Given the description of an element on the screen output the (x, y) to click on. 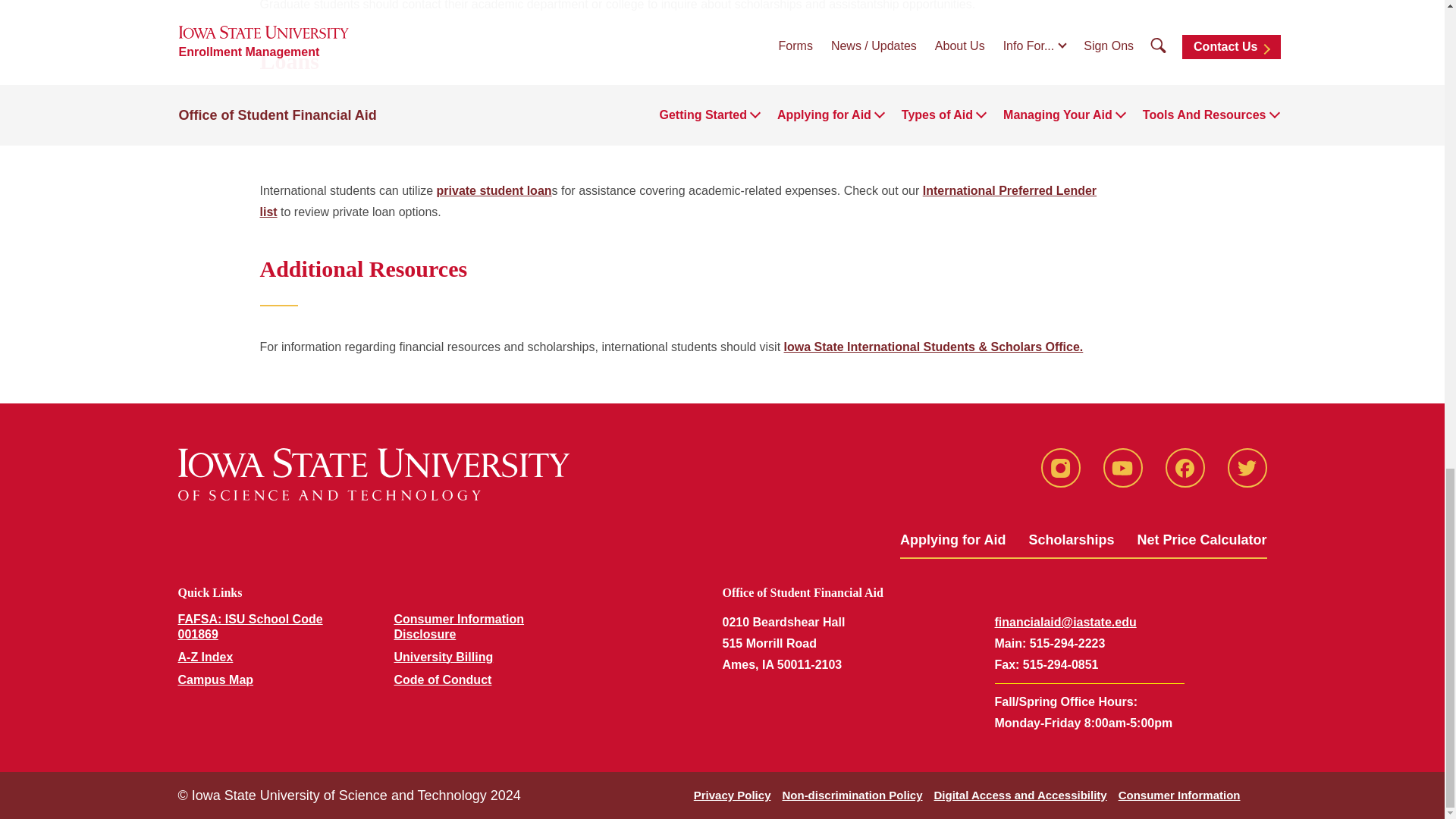
Phone (1008, 643)
Phone (1005, 664)
Phone (1064, 701)
